Given the description of an element on the screen output the (x, y) to click on. 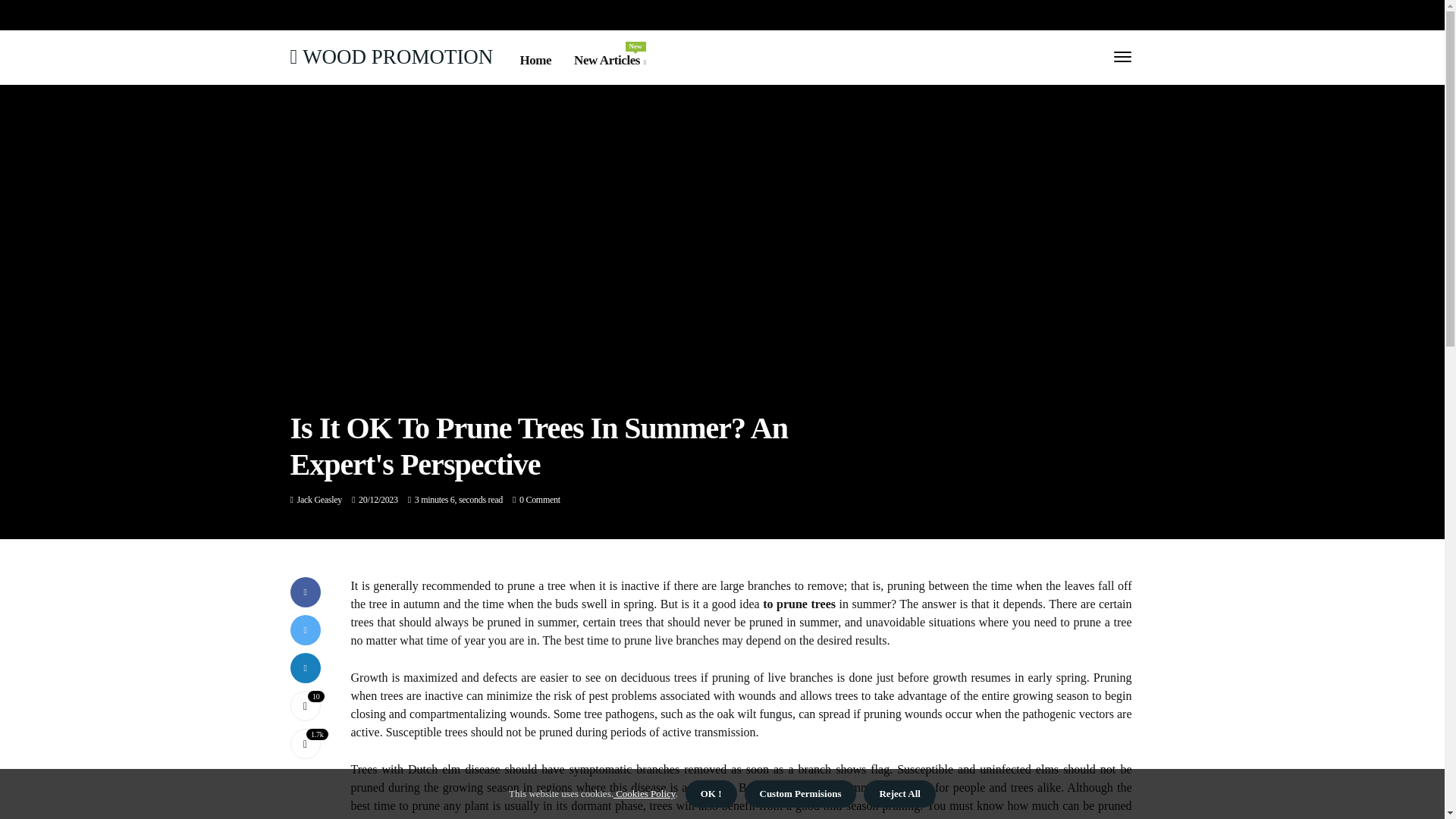
Like (304, 706)
WOOD PROMOTION (391, 56)
Jack Geasley (319, 499)
Posts by Jack Geasley (609, 60)
10 (319, 499)
0 Comment (304, 706)
